Given the description of an element on the screen output the (x, y) to click on. 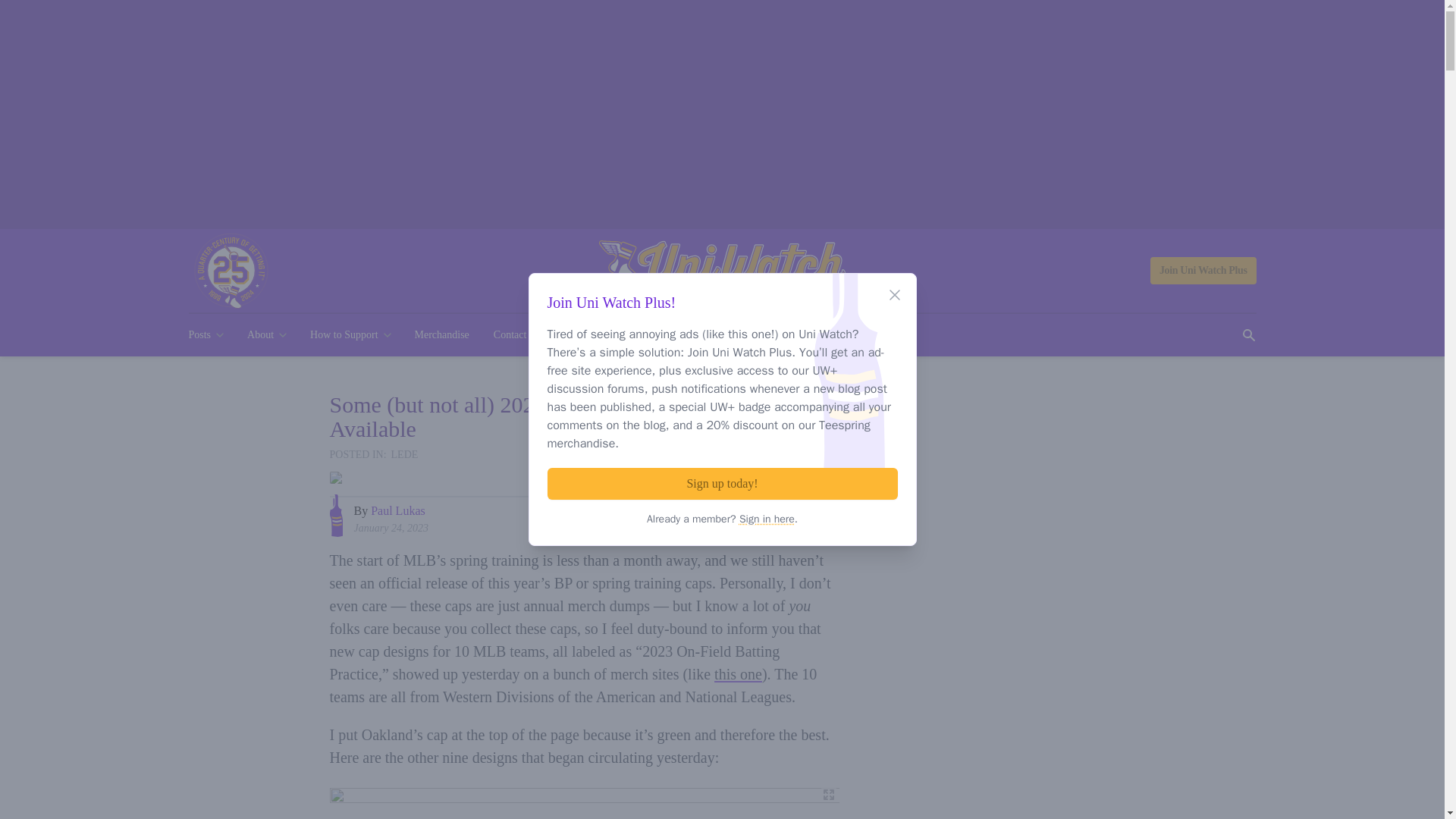
Close (894, 294)
Share on Twitter (796, 516)
Sign up today! (722, 483)
Join Uni Watch Plus (1203, 270)
Uni Watch (721, 270)
Sign in here (766, 518)
Share on Facebook (768, 516)
Uni Watch (721, 270)
